Given the description of an element on the screen output the (x, y) to click on. 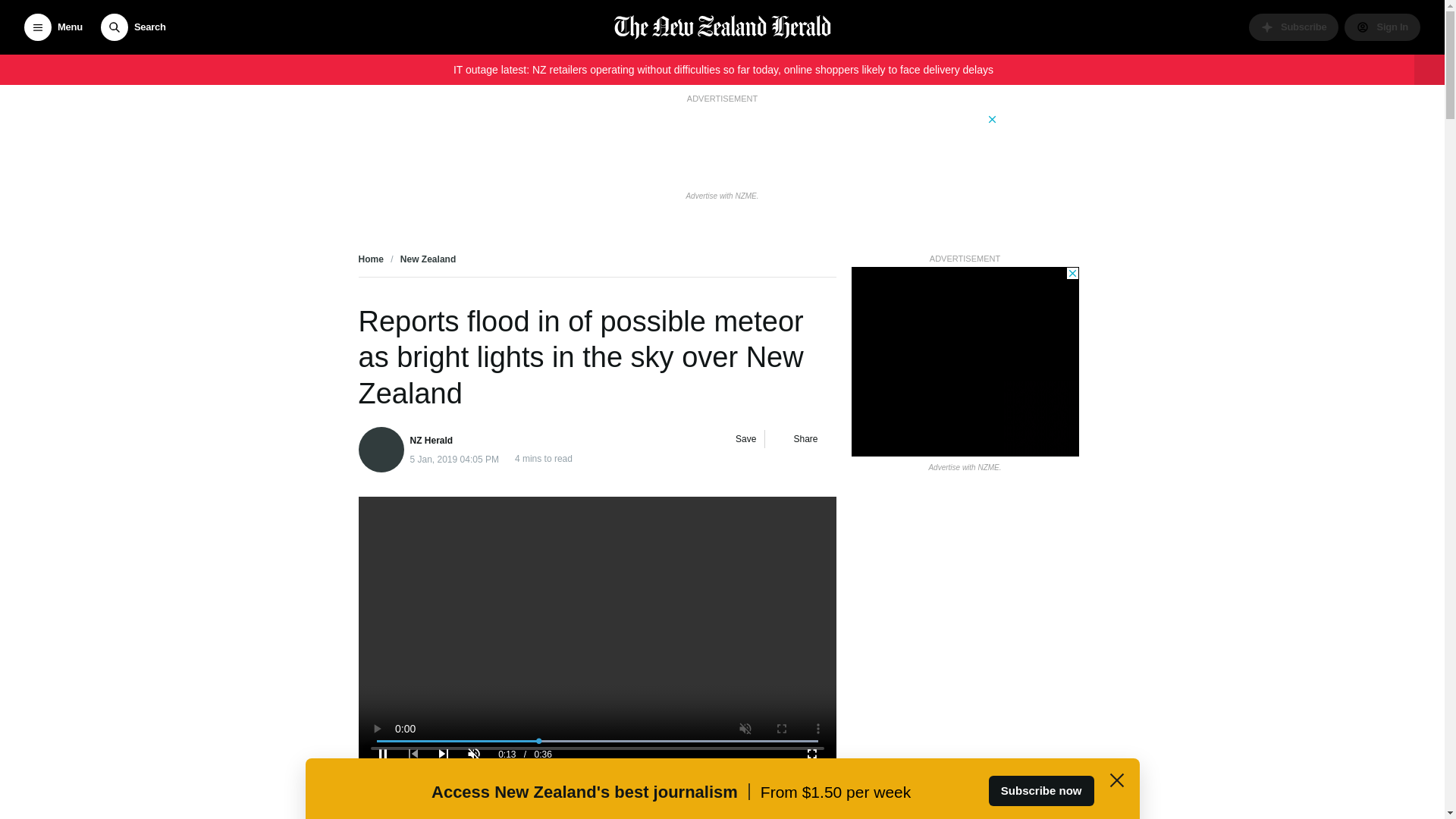
Unmute (472, 753)
Pause (381, 753)
Fullscreen (811, 753)
Advertisement (596, 630)
3rd party ad content (721, 146)
Menu (53, 26)
Manage your account (1382, 26)
Search (132, 26)
Sign In (1382, 26)
Subscribe (1294, 26)
